Given the description of an element on the screen output the (x, y) to click on. 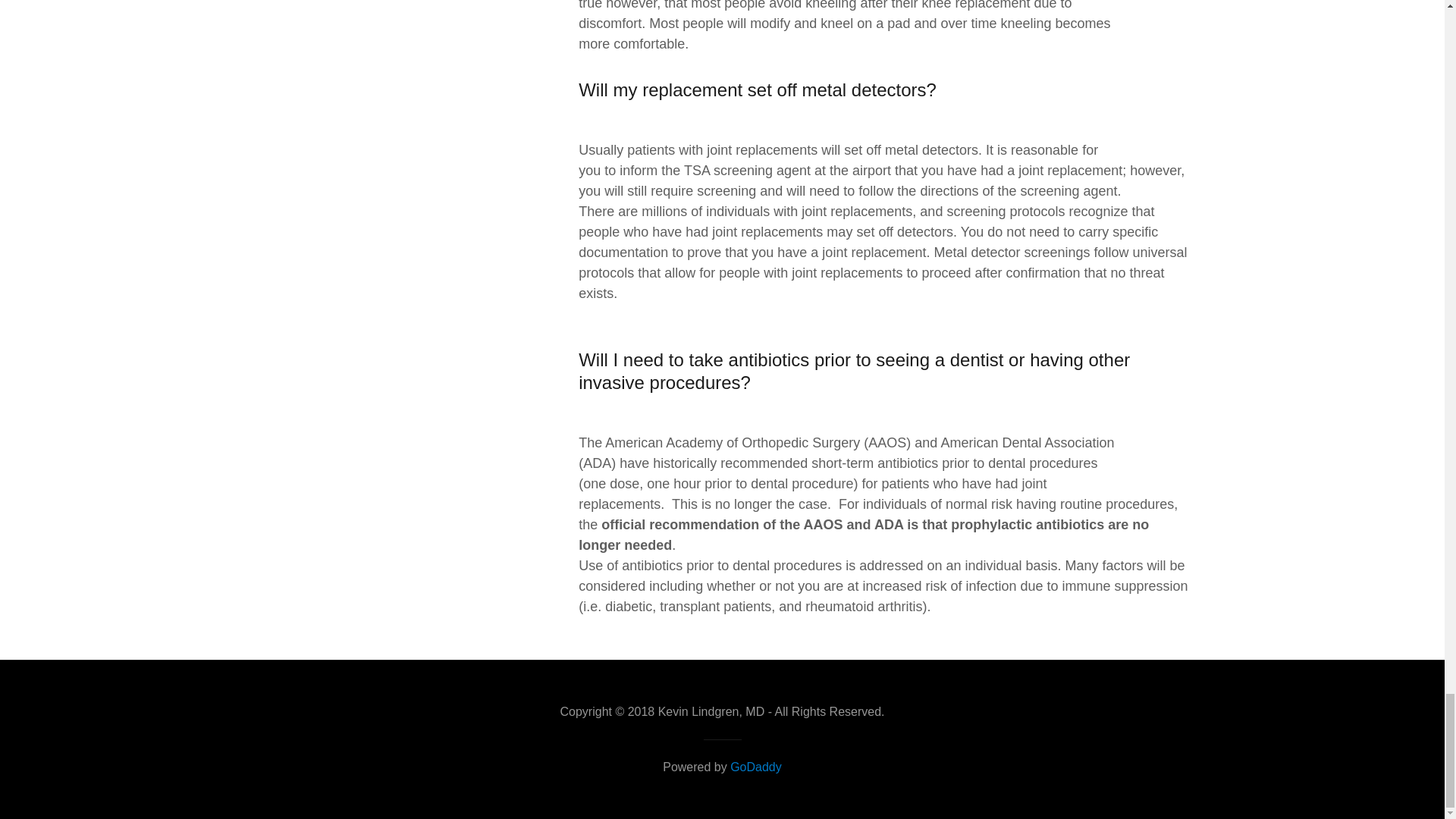
GoDaddy (755, 766)
